Given the description of an element on the screen output the (x, y) to click on. 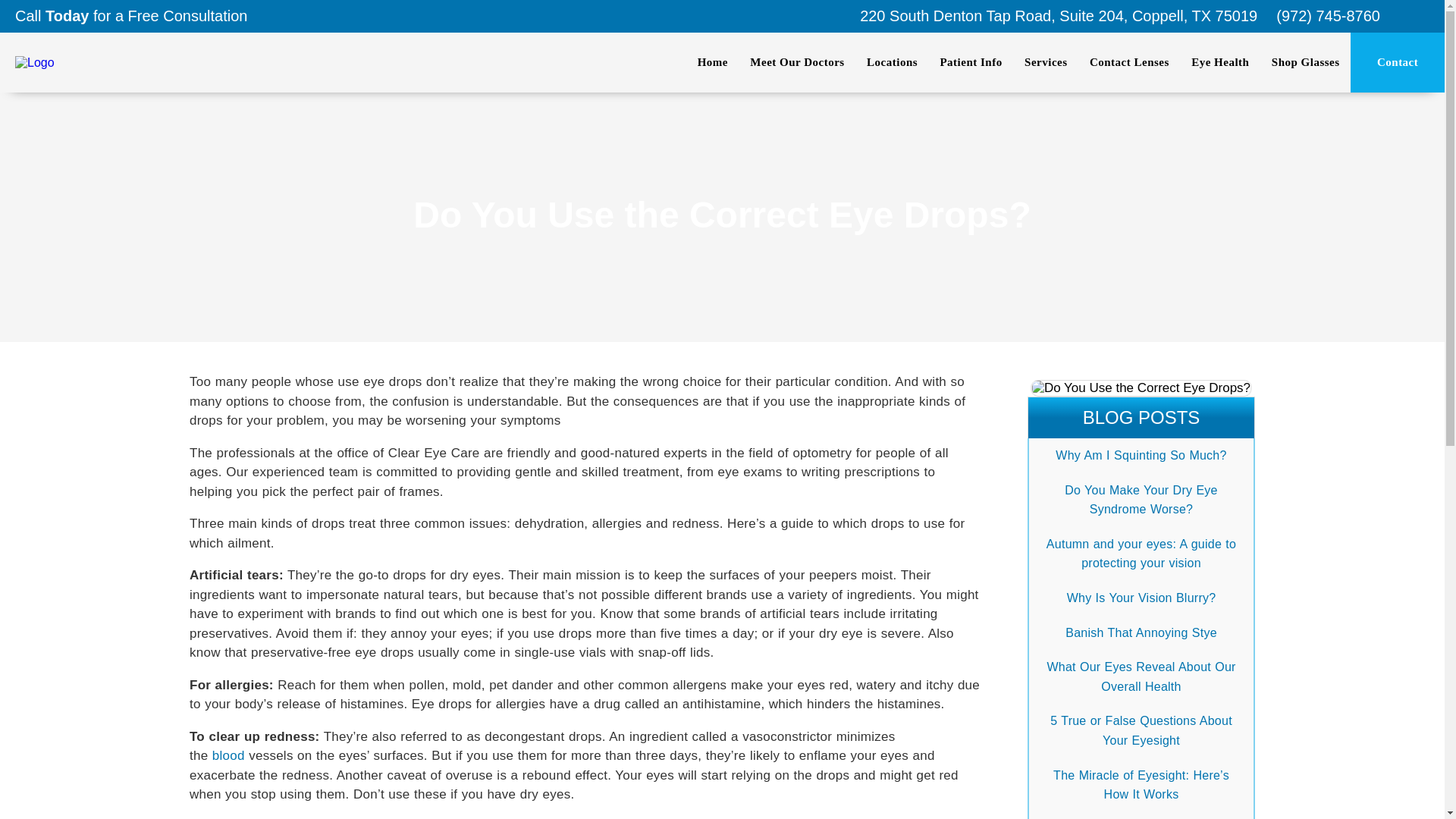
Autumn and your eyes: A guide to protecting your vision (1141, 553)
5 True or False Questions About Your Eyesight (1140, 730)
blood (228, 755)
Why Am I Squinting So Much? (1140, 454)
Banish That Annoying Stye (1141, 632)
Do You Make Your Dry Eye Syndrome Worse? (1140, 500)
Call Today for a Free Consultation (130, 15)
Why Is Your Vision Blurry? (1141, 597)
What Our Eyes Reveal About Our Overall Health (1140, 676)
